Given the description of an element on the screen output the (x, y) to click on. 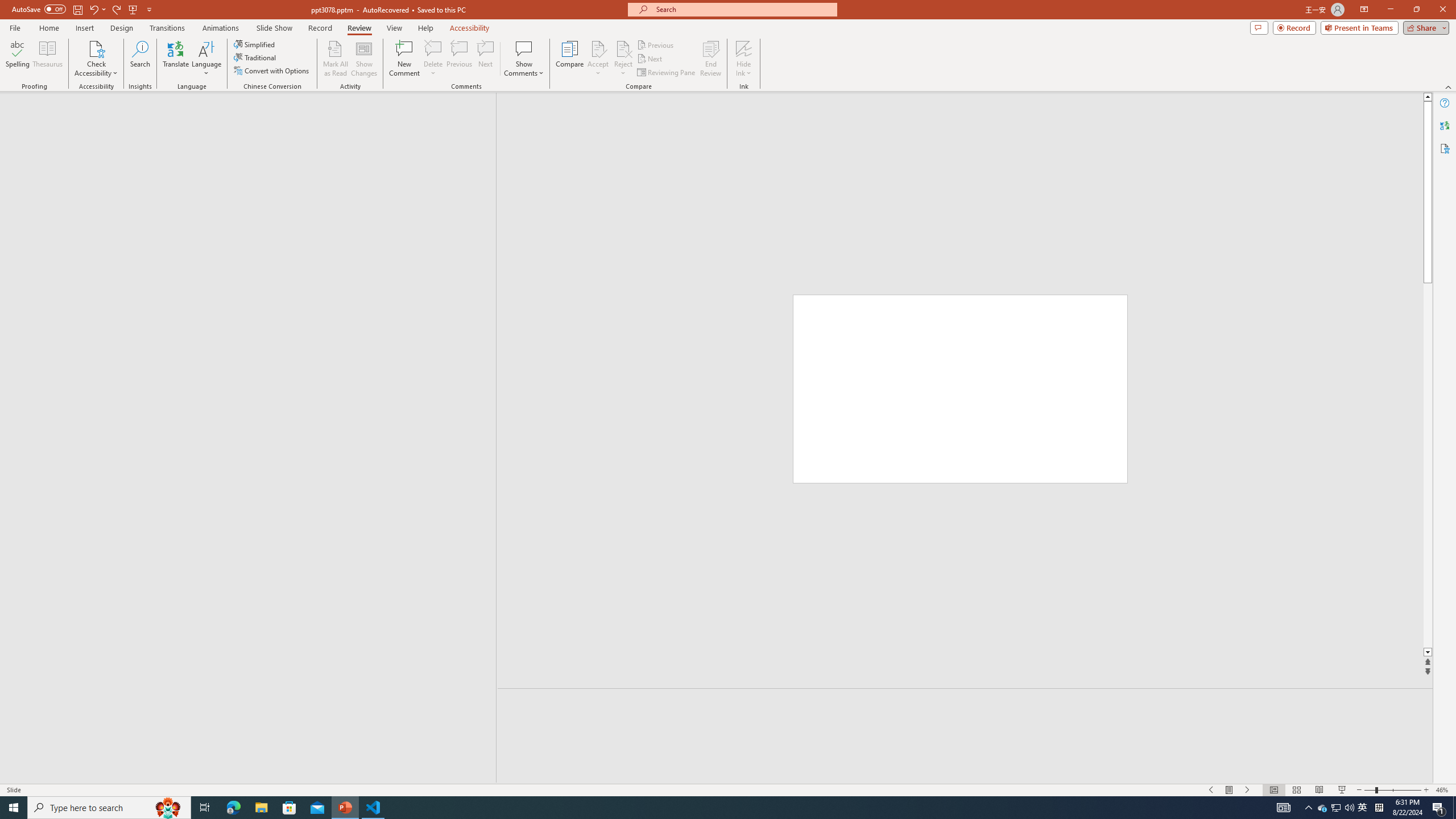
Slide Notes (965, 705)
Rectangle (242, 437)
Reject Change (622, 48)
Previous (655, 44)
Thesaurus... (47, 58)
